Given the description of an element on the screen output the (x, y) to click on. 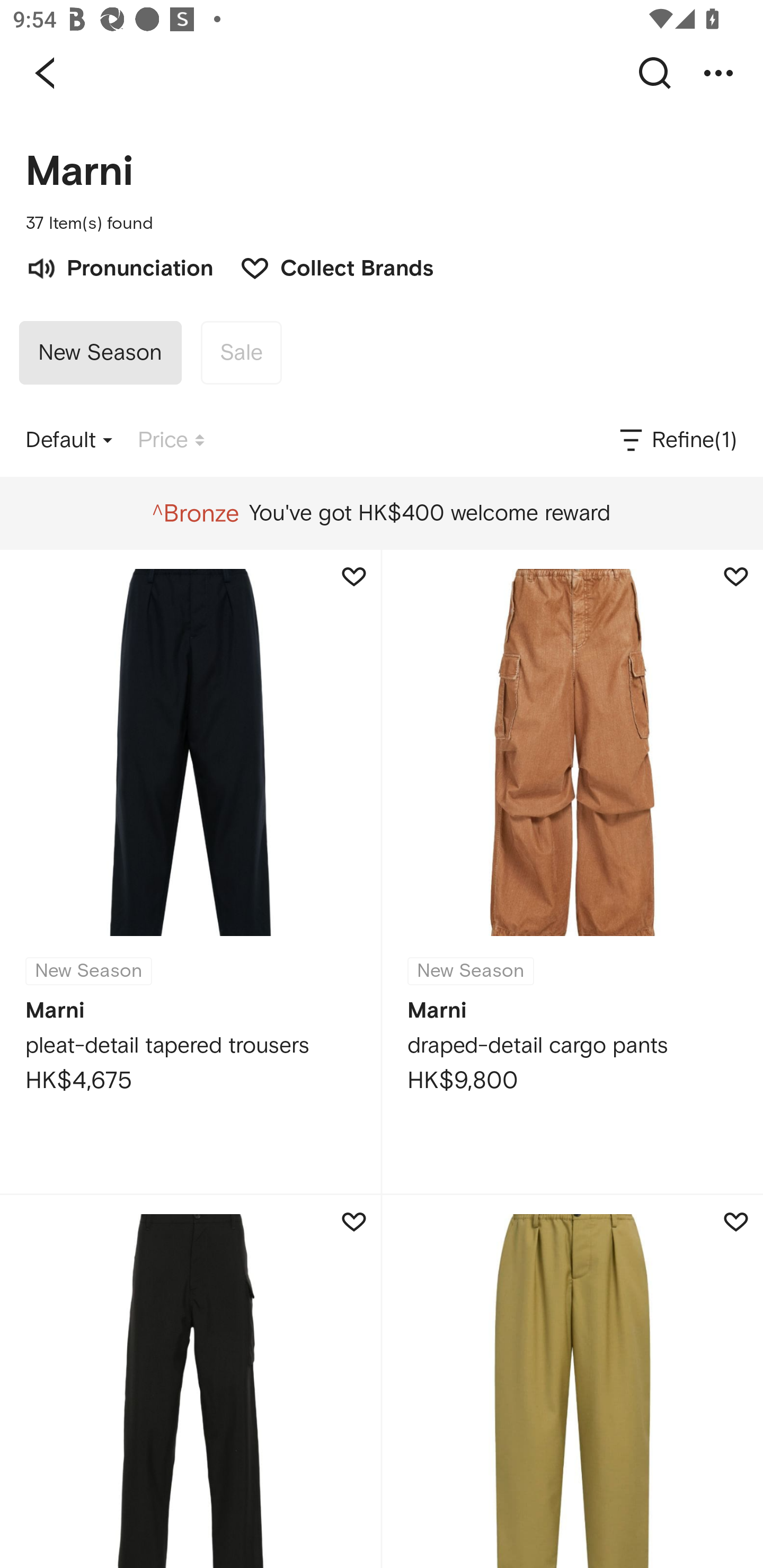
Pronunciation (119, 266)
Collect Brands (327, 266)
New Season (100, 352)
Sale (240, 352)
Default (68, 440)
Price (171, 440)
Refine(1) (677, 440)
You've got HK$400 welcome reward (381, 513)
